Given the description of an element on the screen output the (x, y) to click on. 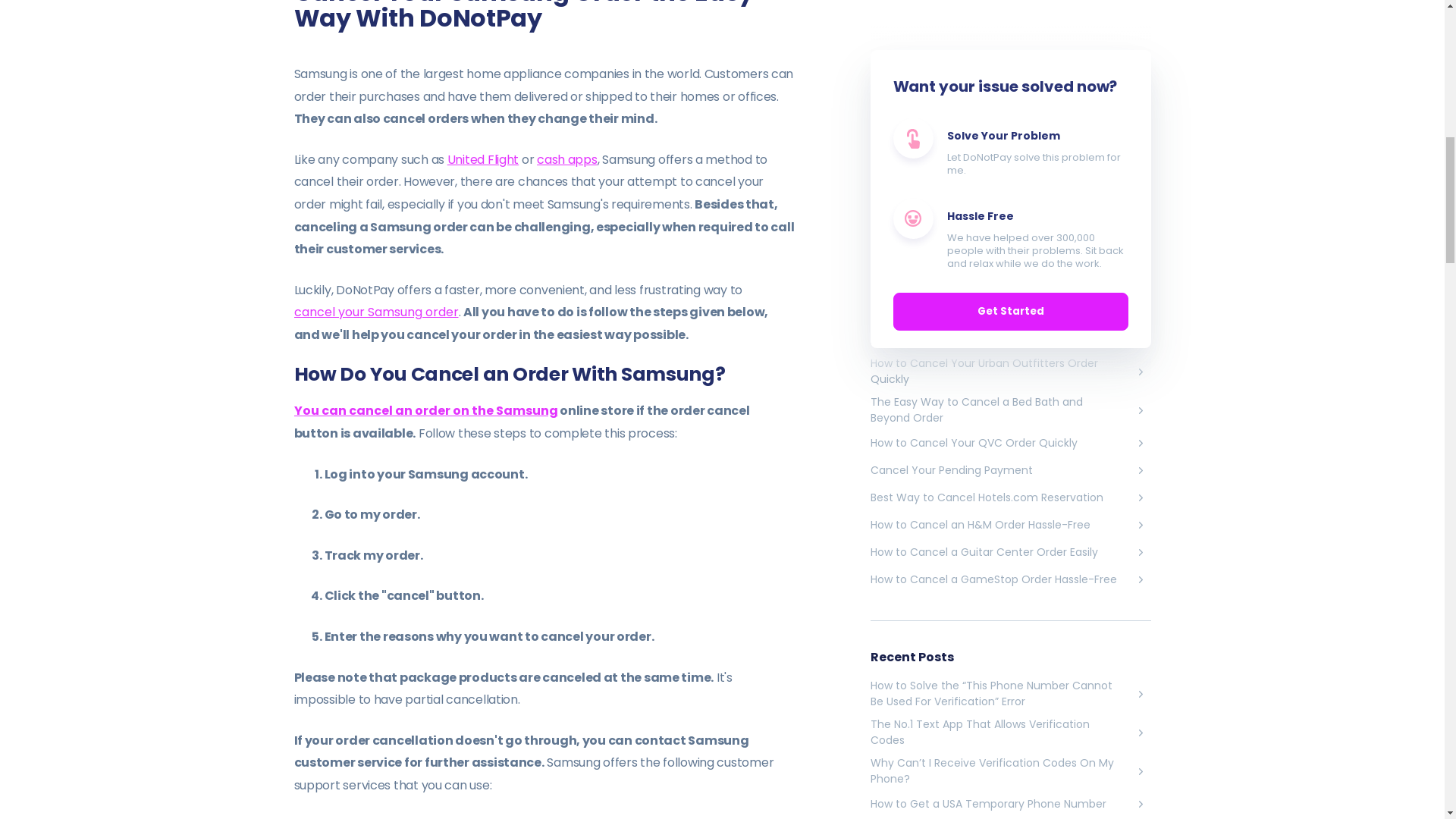
cancel your Samsung order (376, 311)
United Flight (482, 159)
cash apps (566, 159)
You can cancel an order on the Samsung (425, 410)
